Given the description of an element on the screen output the (x, y) to click on. 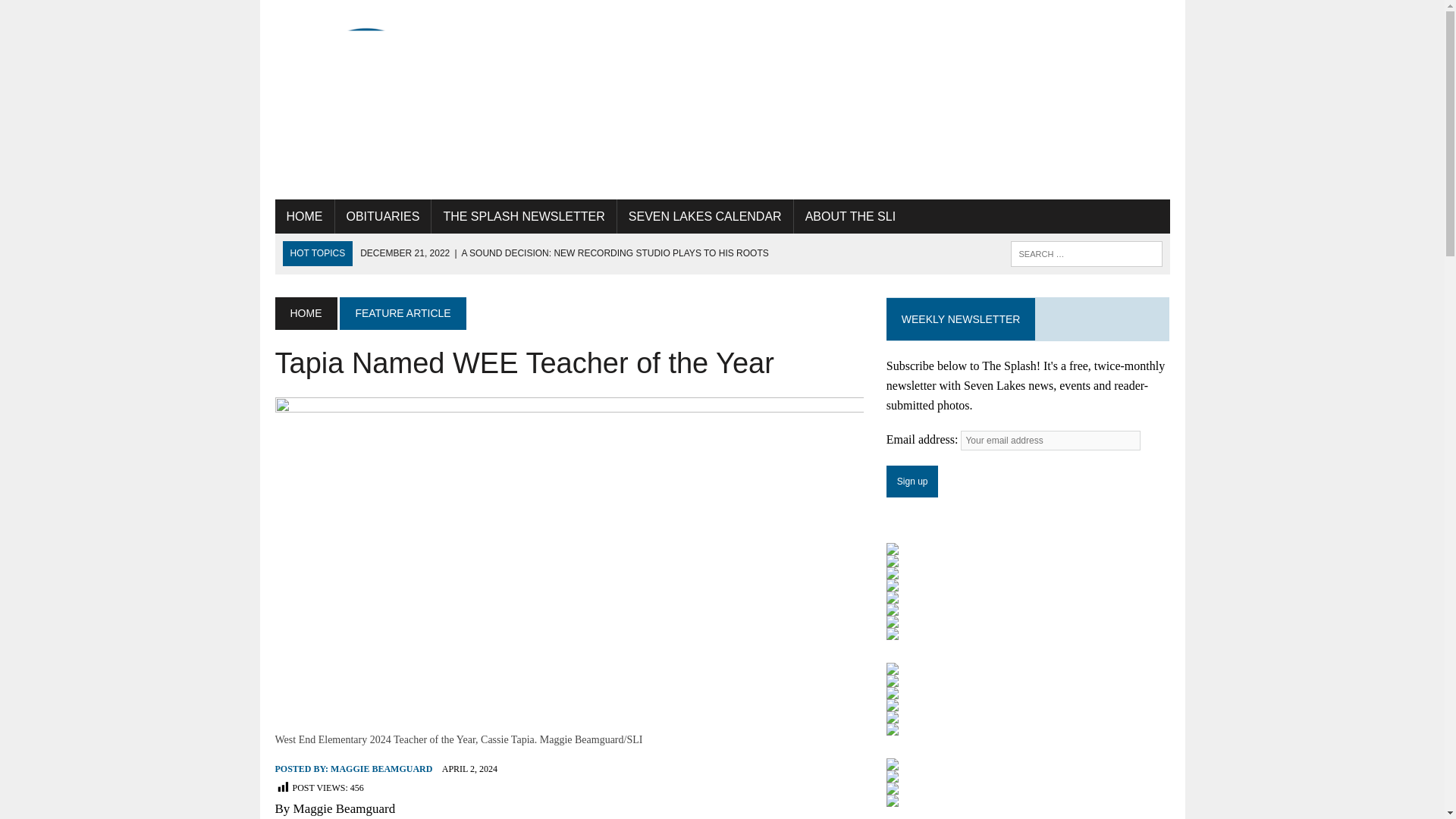
HOME (304, 216)
A Sound Decision: New Recording Studio Plays to His Roots (563, 253)
OBITUARIES (382, 216)
HOME (305, 313)
MAGGIE BEAMGUARD (381, 768)
SEVEN LAKES CALENDAR (705, 216)
Search (75, 14)
Sign up (912, 481)
ABOUT THE SLI (850, 216)
